Given the description of an element on the screen output the (x, y) to click on. 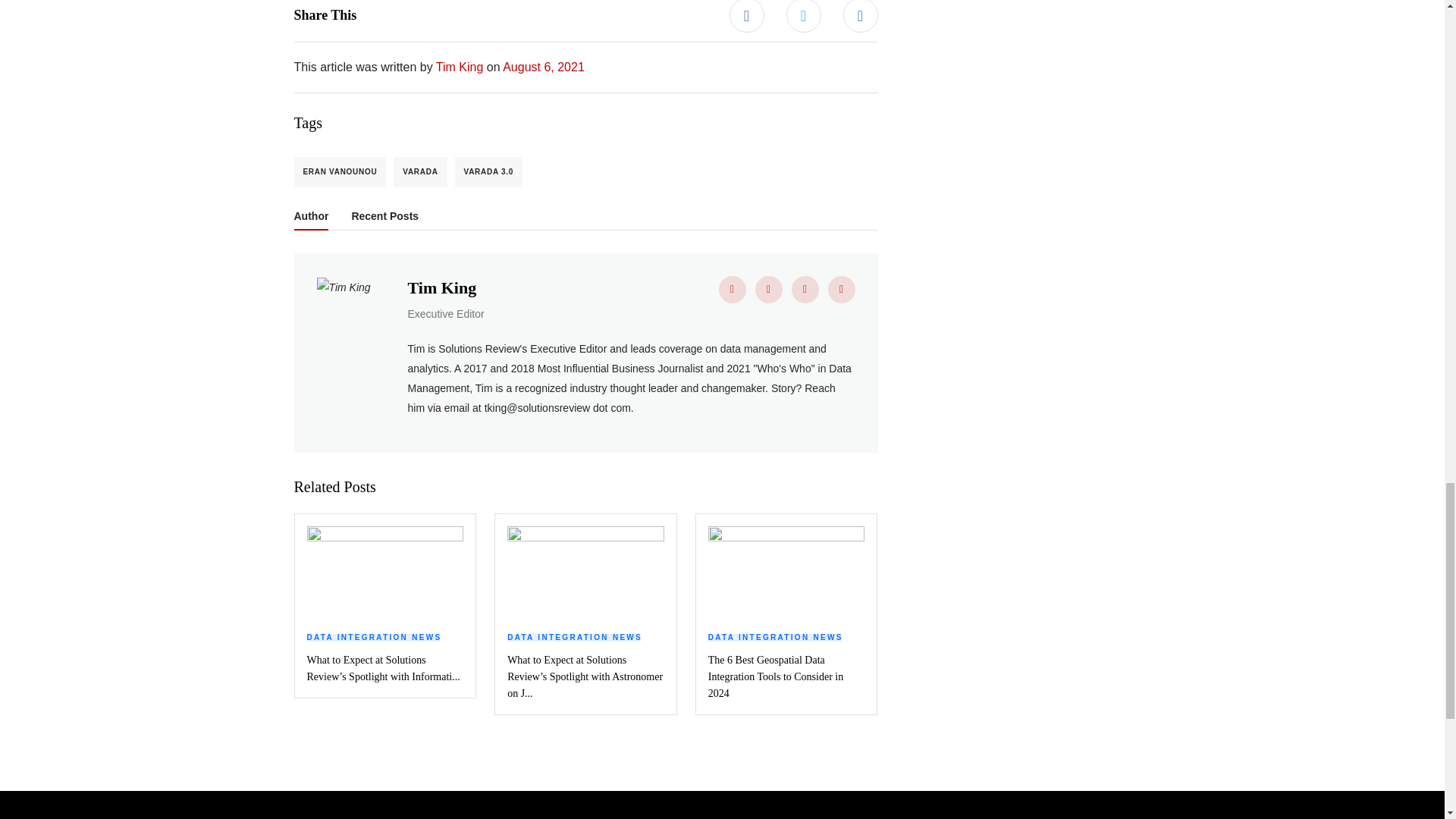
Author (311, 219)
ERAN VANOUNOU (340, 172)
Tim King (459, 66)
August 6, 2021 (543, 66)
VARADA 3.0 (488, 172)
VARADA (419, 172)
Recent Posts (384, 219)
